Given the description of an element on the screen output the (x, y) to click on. 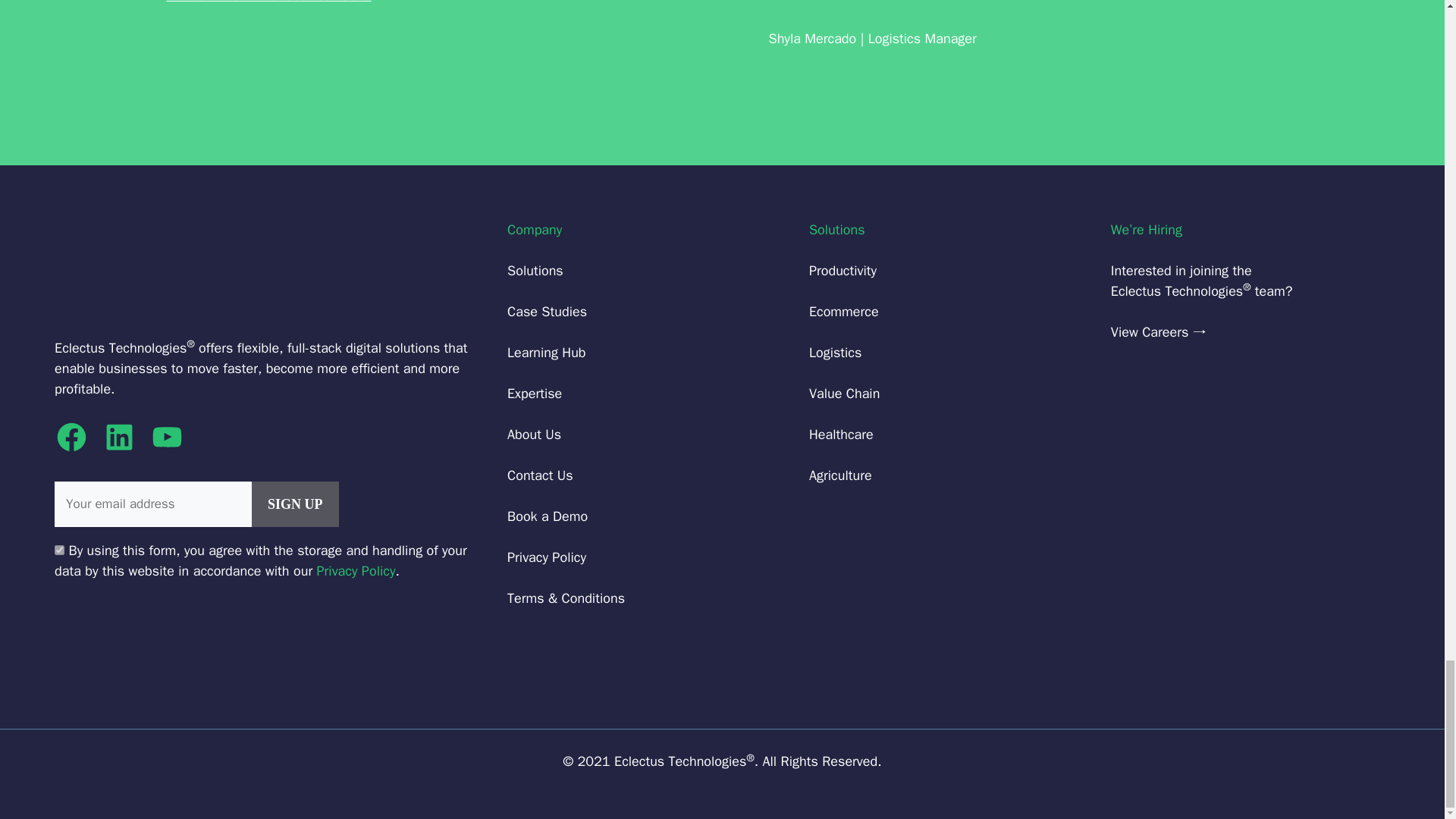
YouTube (166, 437)
Or Learn more about our solutions (269, 2)
on (59, 550)
Privacy Policy (356, 570)
Solutions (534, 270)
About Us (533, 434)
Expertise (534, 393)
Solutions (269, 2)
Case Studies (546, 311)
Facebook (71, 437)
